Given the description of an element on the screen output the (x, y) to click on. 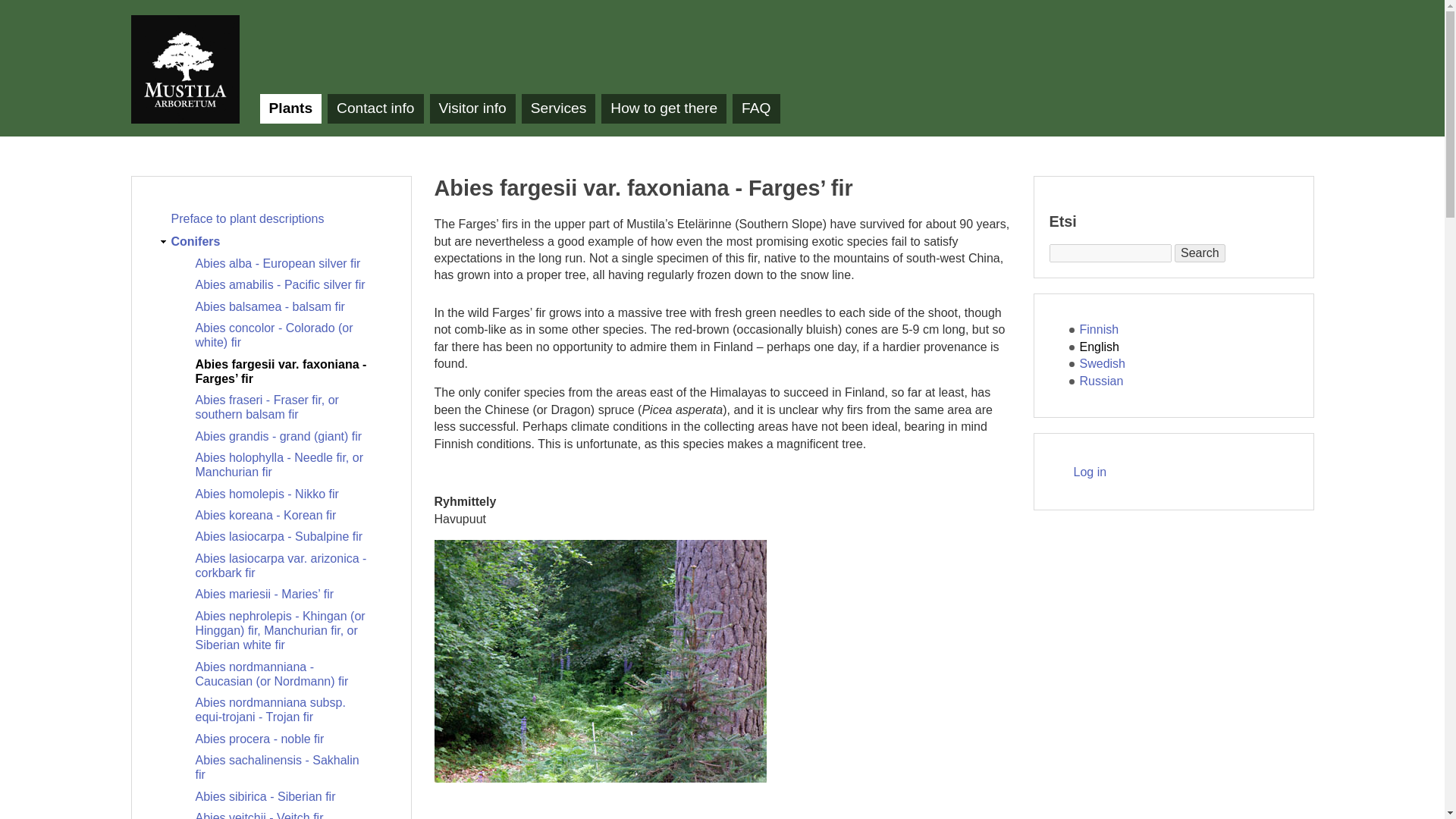
Abies fraseri - Fraser fir, or southern balsam fir (283, 407)
Plants (290, 108)
Abies sachalinensis - Sakhalin fir (283, 767)
Conifers (277, 241)
Abies amabilis - Pacific silver fir (283, 284)
Abies homolepis - Nikko fir (283, 493)
Abies sibirica - Siberian fir (283, 796)
FAQ (755, 108)
Abies balsamea - balsam fir (283, 306)
How to get there (663, 108)
